Given the description of an element on the screen output the (x, y) to click on. 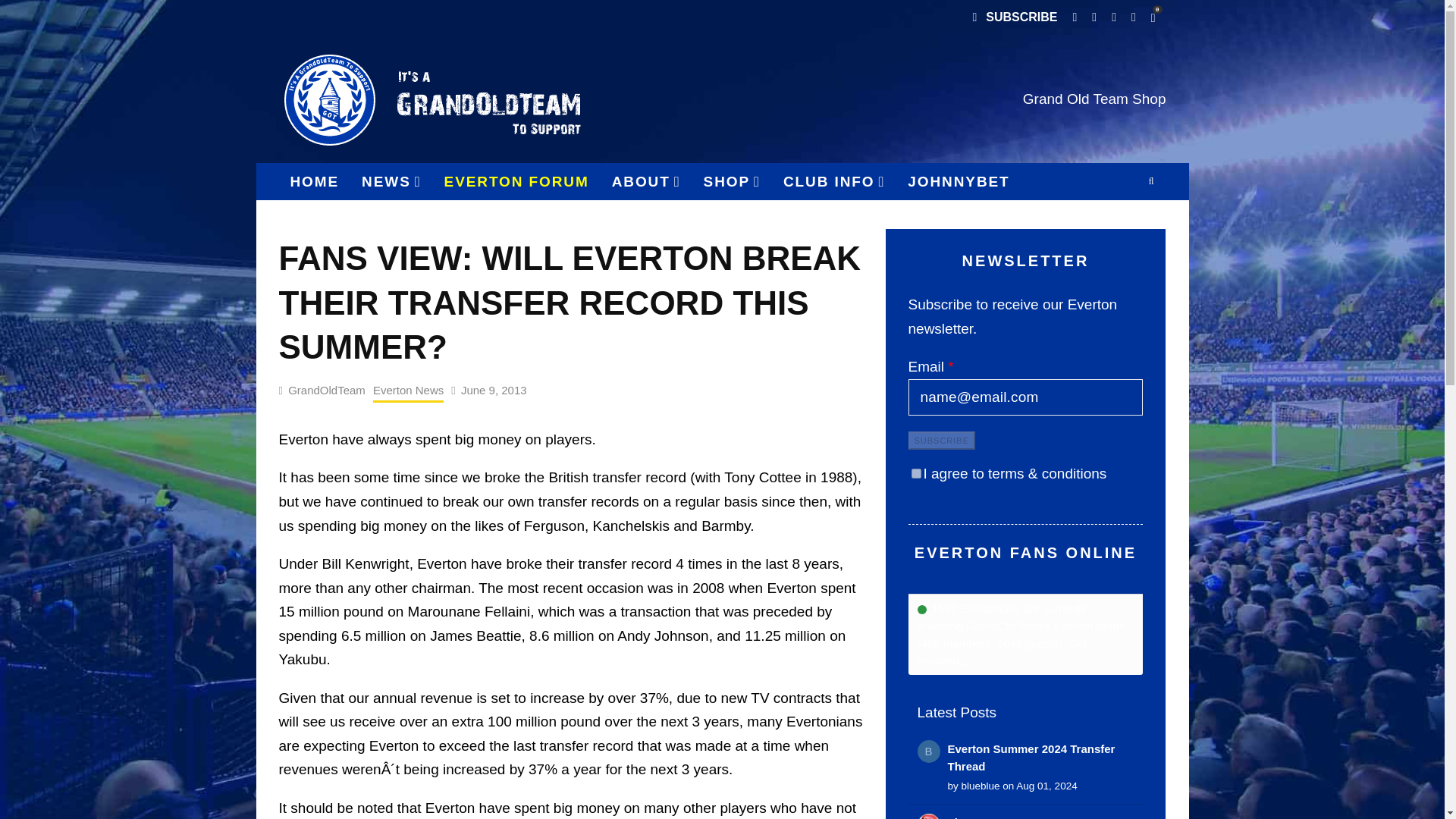
CLUB INFO (833, 181)
NEWS (391, 181)
About (646, 181)
ABOUT (646, 181)
Subscribe (941, 440)
on (916, 473)
SUBSCRIBE (1013, 18)
Grand Old Team Shop (1094, 98)
HOME (314, 181)
EVERTON FORUM (515, 181)
SHOP (732, 181)
